Given the description of an element on the screen output the (x, y) to click on. 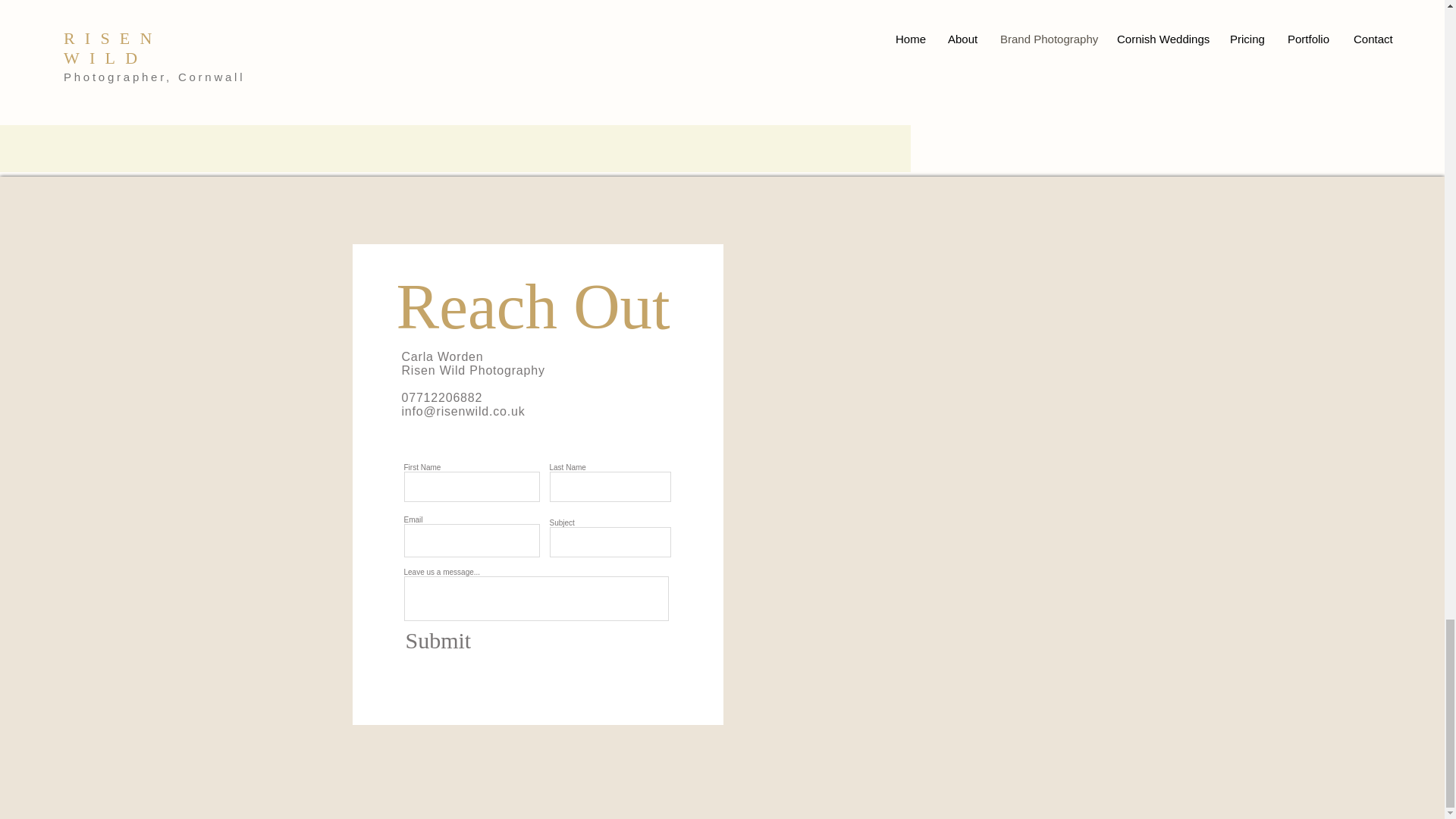
HOME (1177, 91)
Submit (468, 640)
